Given the description of an element on the screen output the (x, y) to click on. 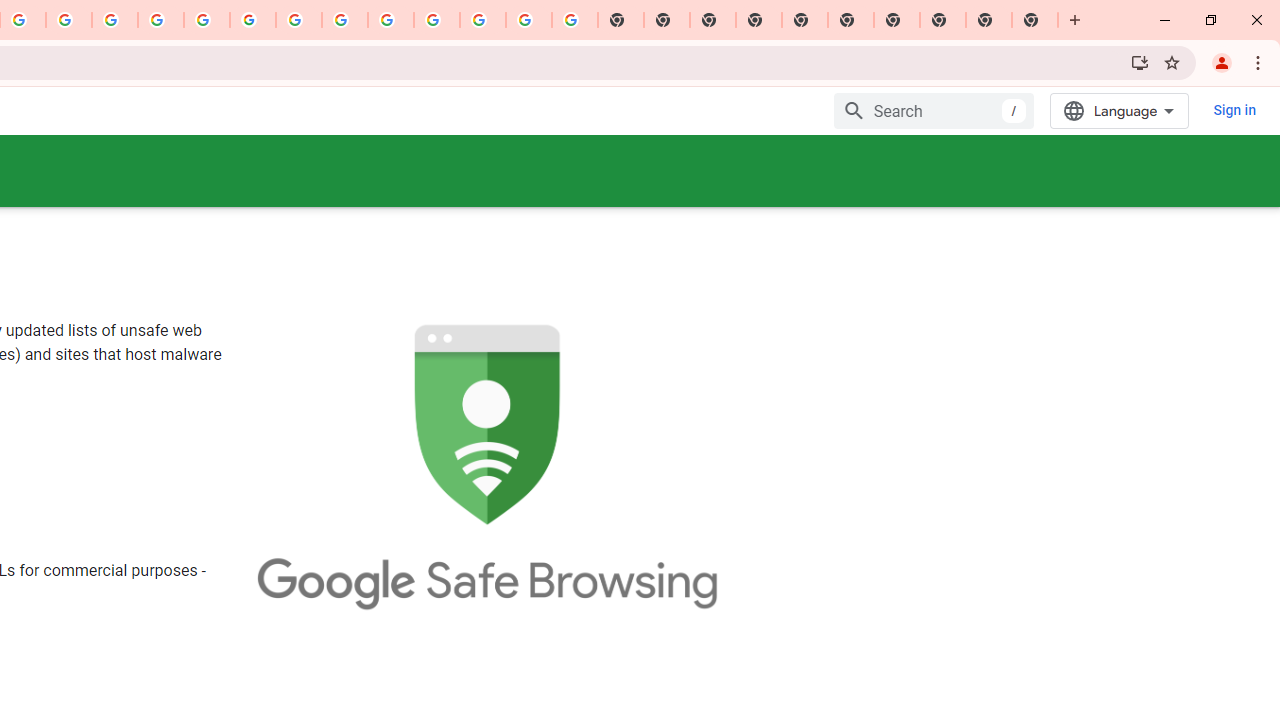
New Tab (759, 20)
Browse Chrome as a guest - Computer - Google Chrome Help (345, 20)
New Tab (1035, 20)
Privacy Help Center - Policies Help (115, 20)
Search (933, 110)
Language (1119, 110)
